Given the description of an element on the screen output the (x, y) to click on. 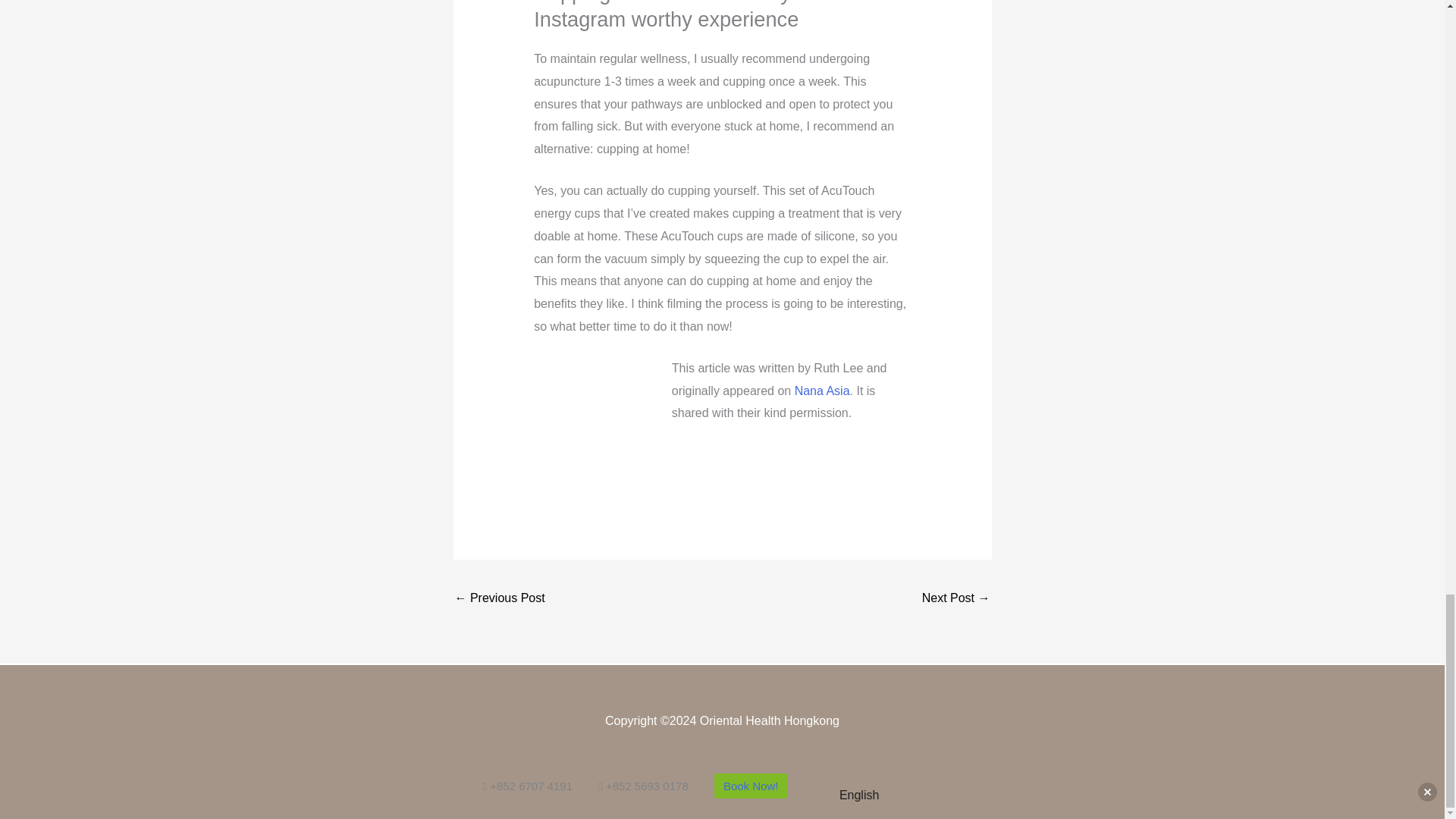
English (825, 795)
Why One Must Take Care of the Womb (499, 599)
English (848, 795)
